Given the description of an element on the screen output the (x, y) to click on. 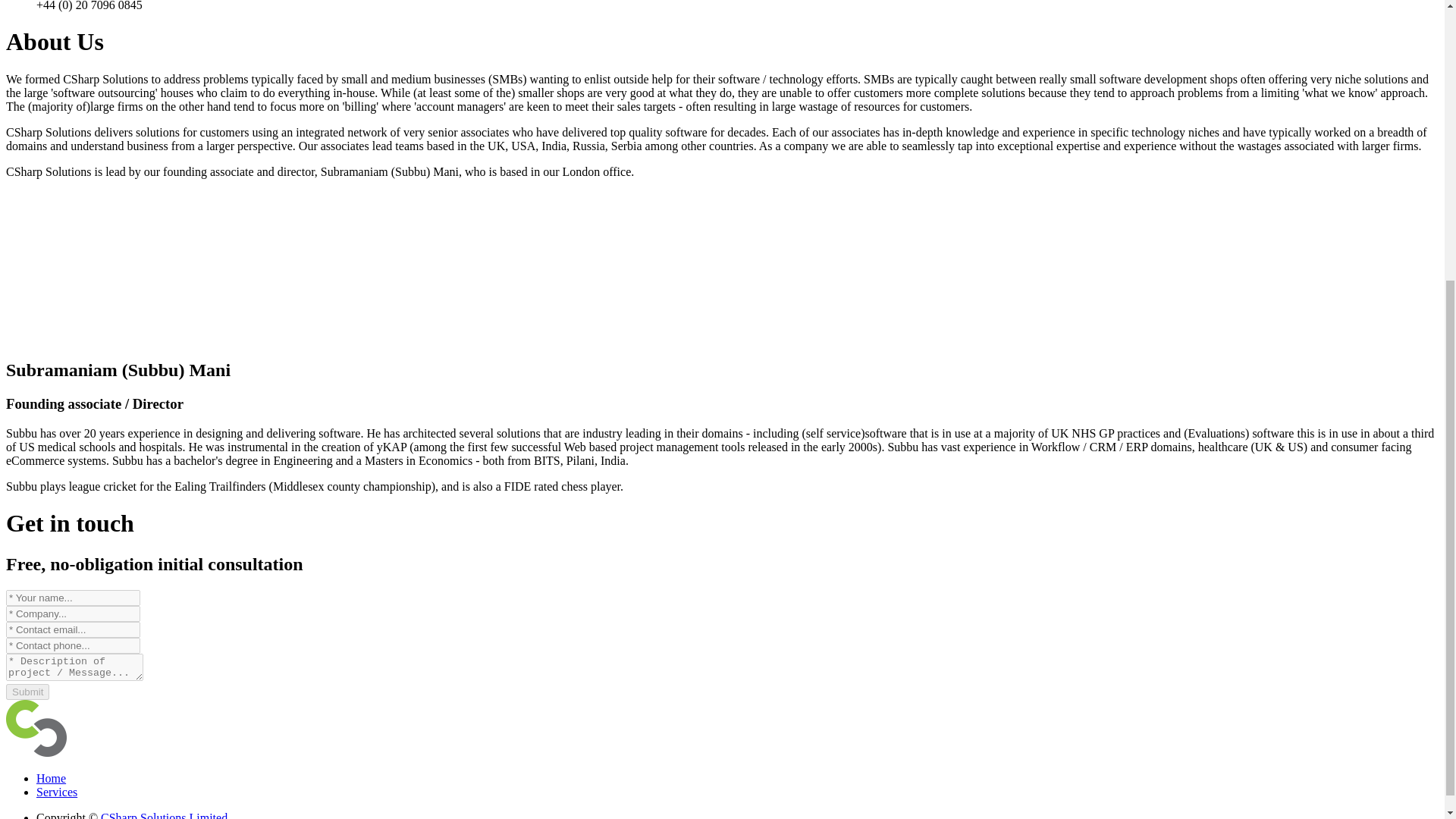
Submit (27, 691)
Home (50, 778)
Services (56, 791)
